Given the description of an element on the screen output the (x, y) to click on. 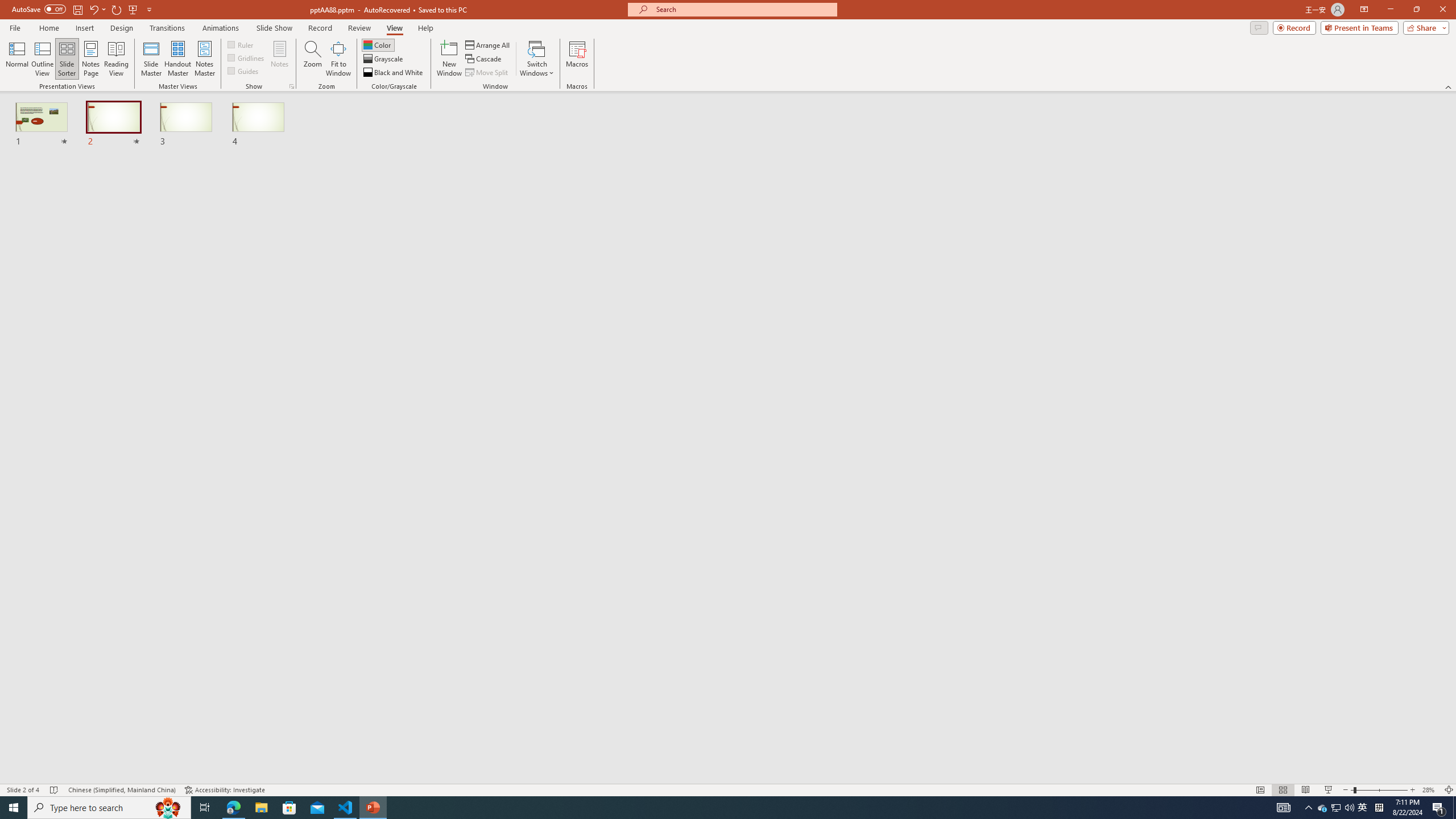
New Window (449, 58)
Guides (243, 69)
